Given the description of an element on the screen output the (x, y) to click on. 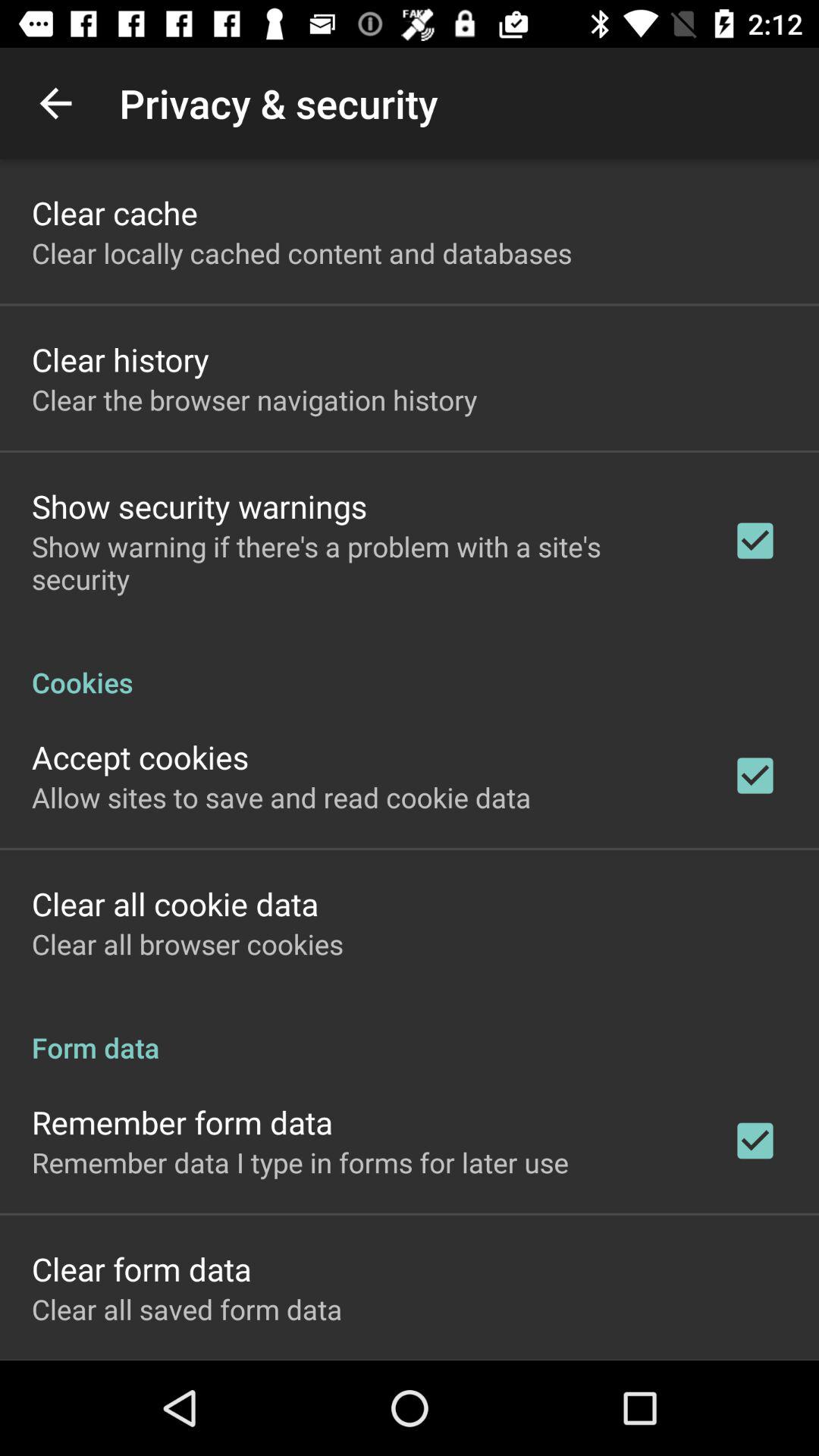
press clear locally cached item (301, 252)
